Given the description of an element on the screen output the (x, y) to click on. 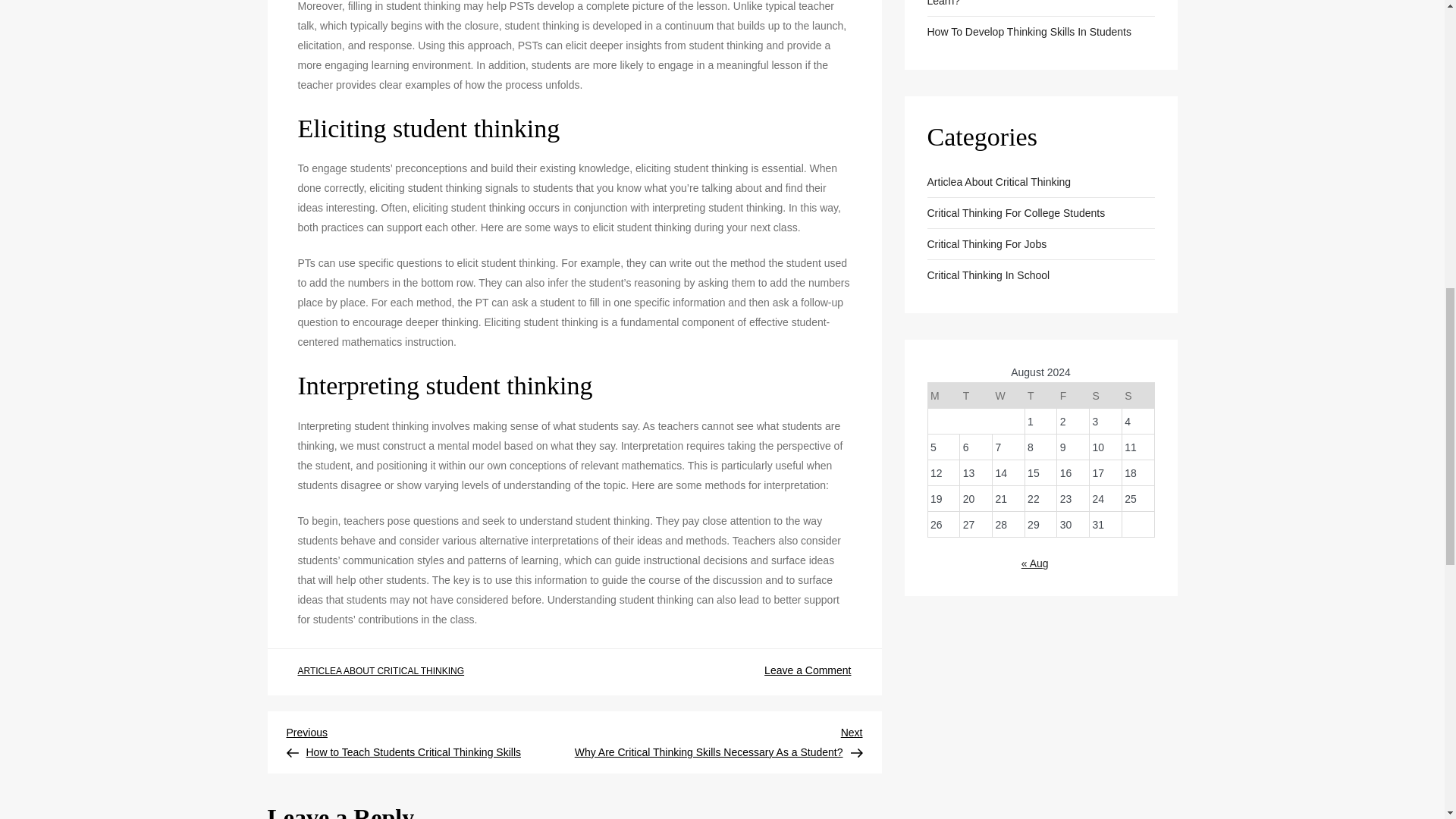
Tuesday (975, 395)
Critical Thinking For College Students (1015, 212)
Wednesday (1008, 395)
Friday (1073, 395)
Monday (943, 395)
Thursday (1041, 395)
Critical Thinking For Jobs (986, 243)
Sunday (1137, 395)
How To Develop Thinking Skills In Students (1028, 31)
Critical Thinking In School (987, 275)
